Given the description of an element on the screen output the (x, y) to click on. 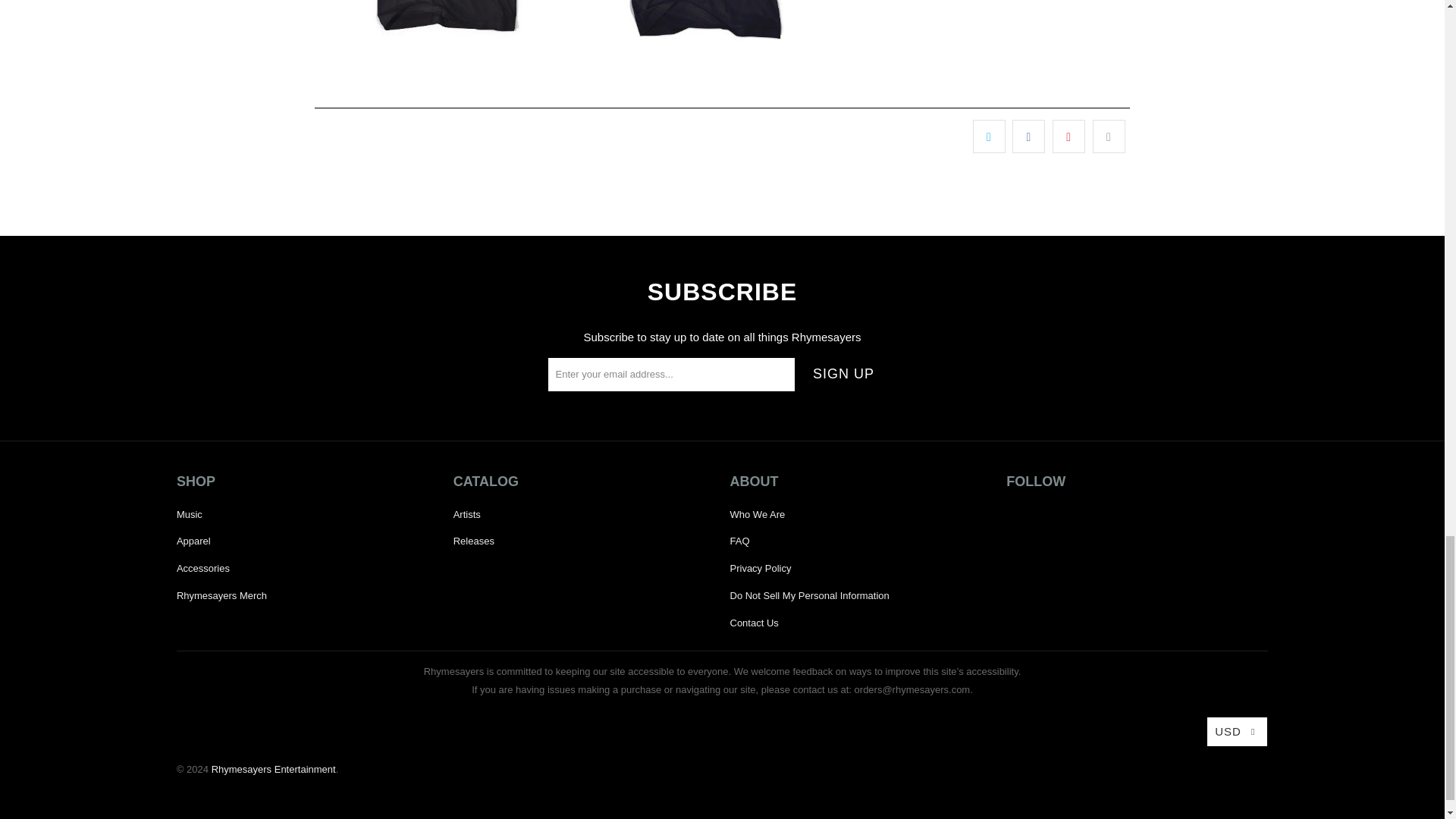
Share this on Twitter (989, 136)
Share this on Pinterest (1068, 136)
Share this on Facebook (1028, 136)
Sign Up (842, 374)
Email this to a friend (1109, 136)
